Given the description of an element on the screen output the (x, y) to click on. 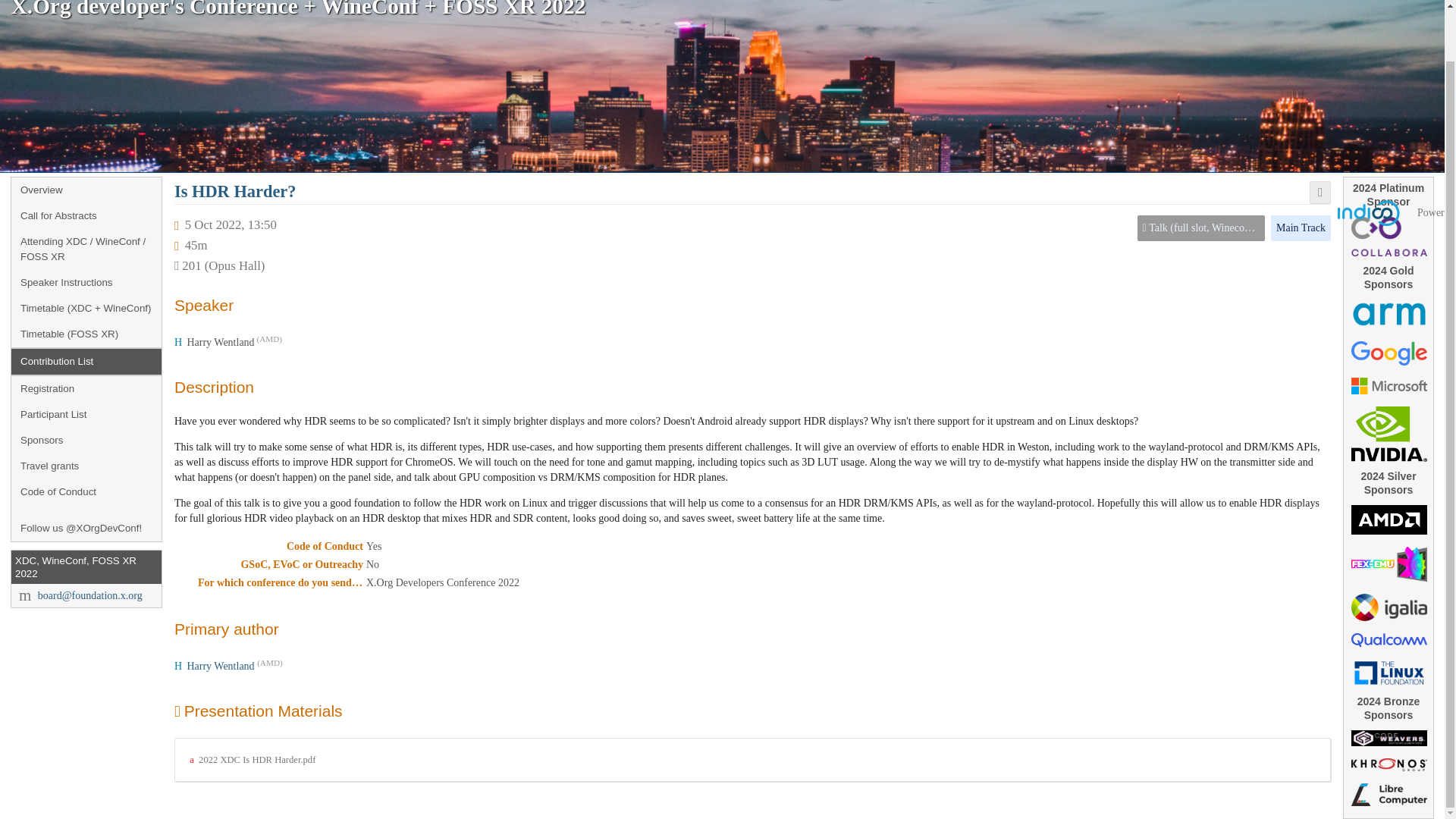
Call for Abstracts (86, 216)
Participant List (86, 414)
Code of Conduct (86, 492)
Overview (86, 190)
Contribution List (86, 361)
Duration (196, 245)
Travel grants (86, 466)
2022 XDC Is HDR Harder.pdf (252, 759)
Registration (86, 388)
Speaker Instructions (86, 282)
Sponsors (86, 440)
